Given the description of an element on the screen output the (x, y) to click on. 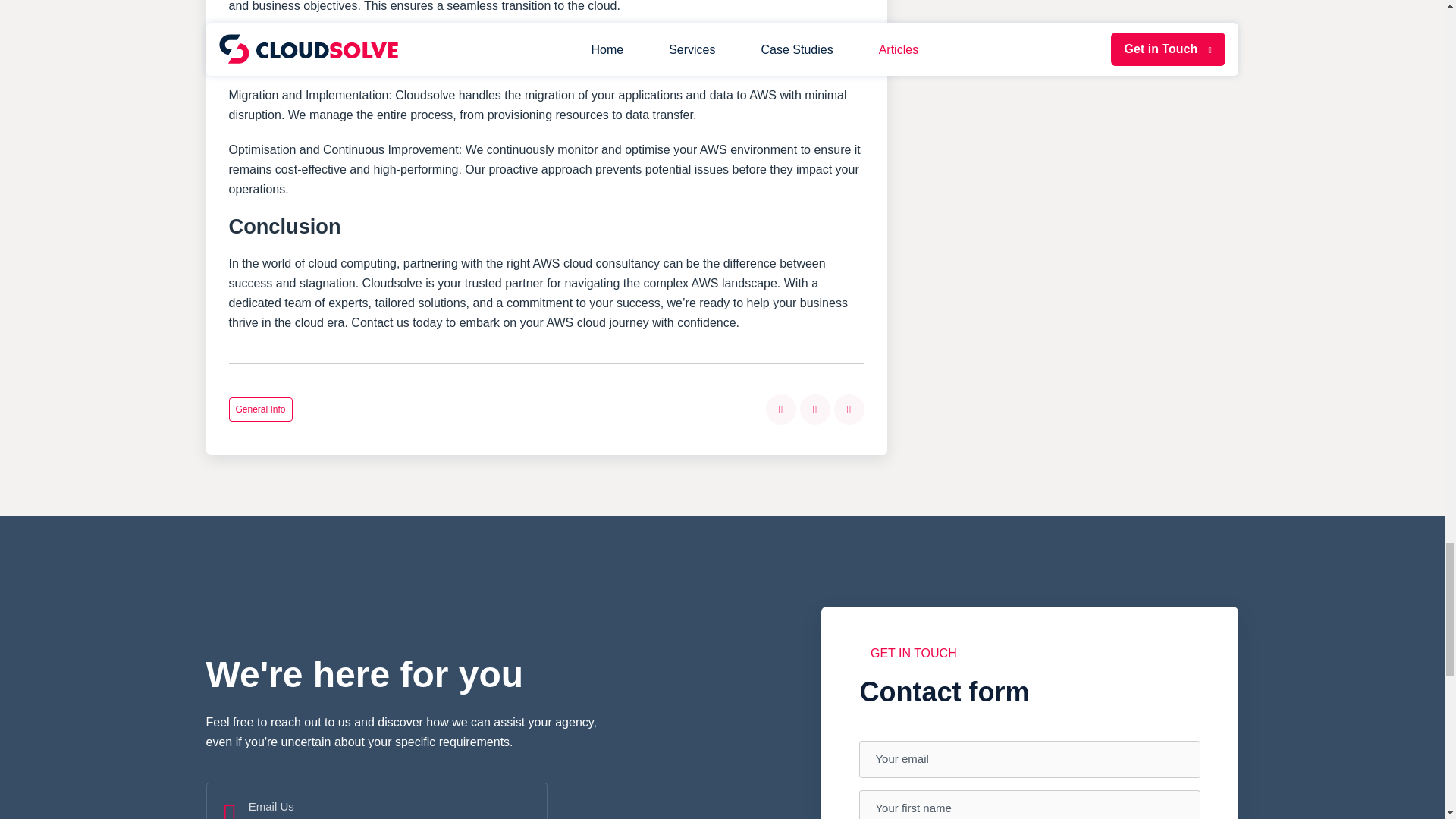
Share on LinkedIn (849, 409)
General Info (260, 409)
Share on Facebook (780, 409)
Share on Twitter (814, 409)
